Given the description of an element on the screen output the (x, y) to click on. 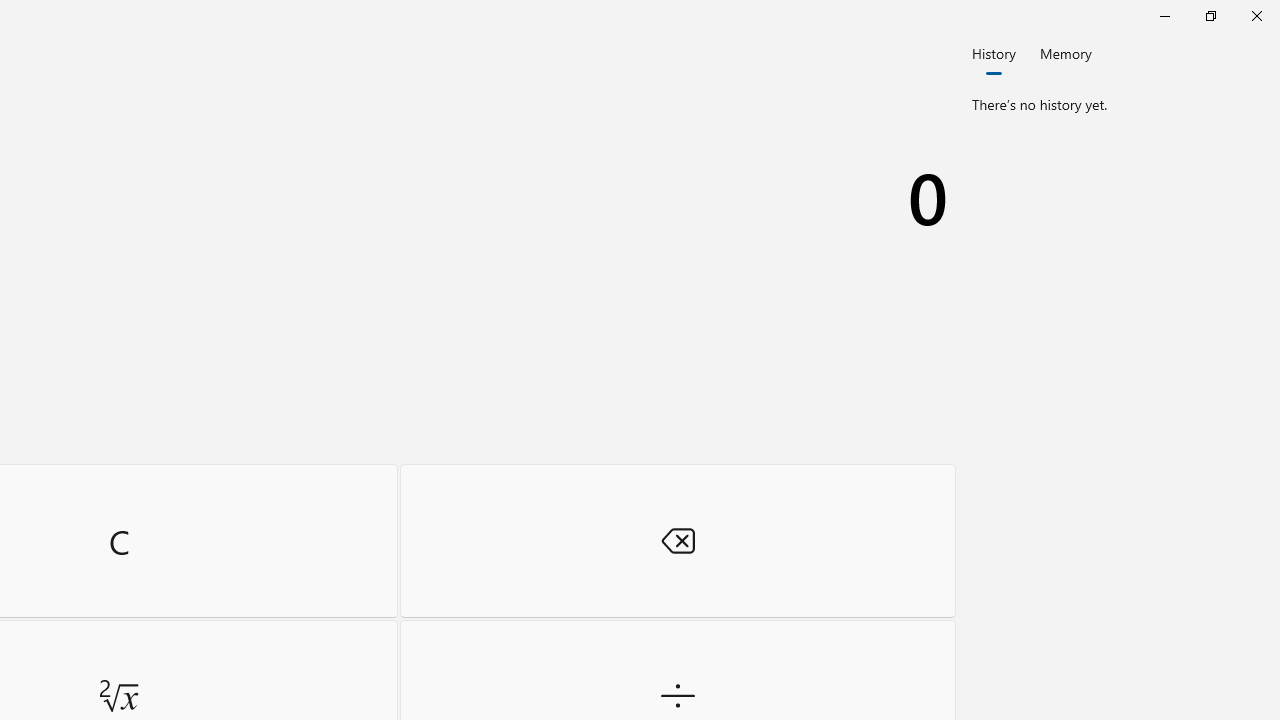
Backspace (677, 540)
Restore Calculator (1210, 15)
Close Calculator (1256, 15)
Minimize Calculator (1164, 15)
